Given the description of an element on the screen output the (x, y) to click on. 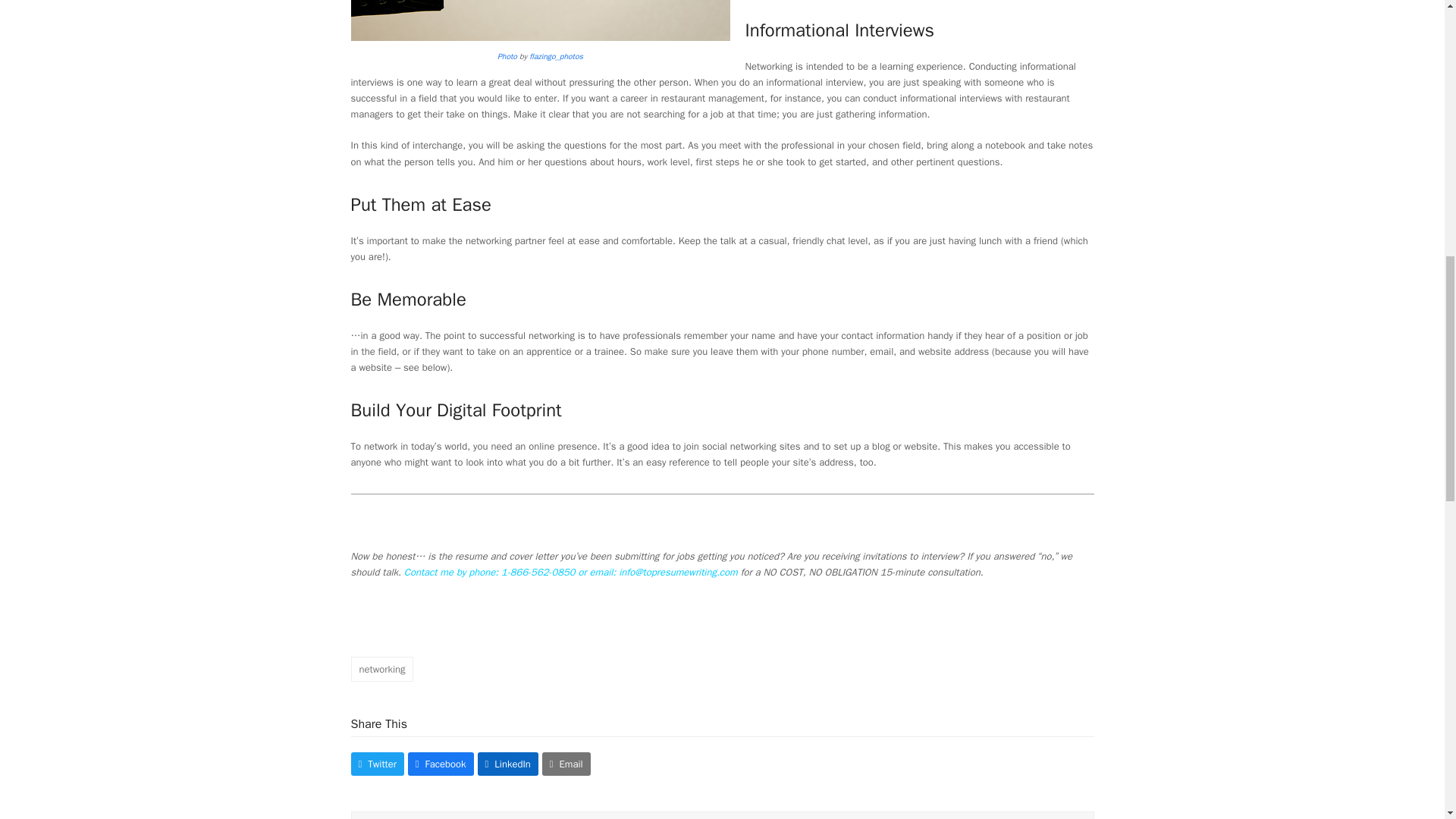
networking (381, 668)
LinkedIn (507, 763)
Facebook (440, 763)
Image inserted by the ImageInject WordPress plugin (506, 56)
Photo (506, 56)
Email (566, 763)
Twitter (376, 763)
